Given the description of an element on the screen output the (x, y) to click on. 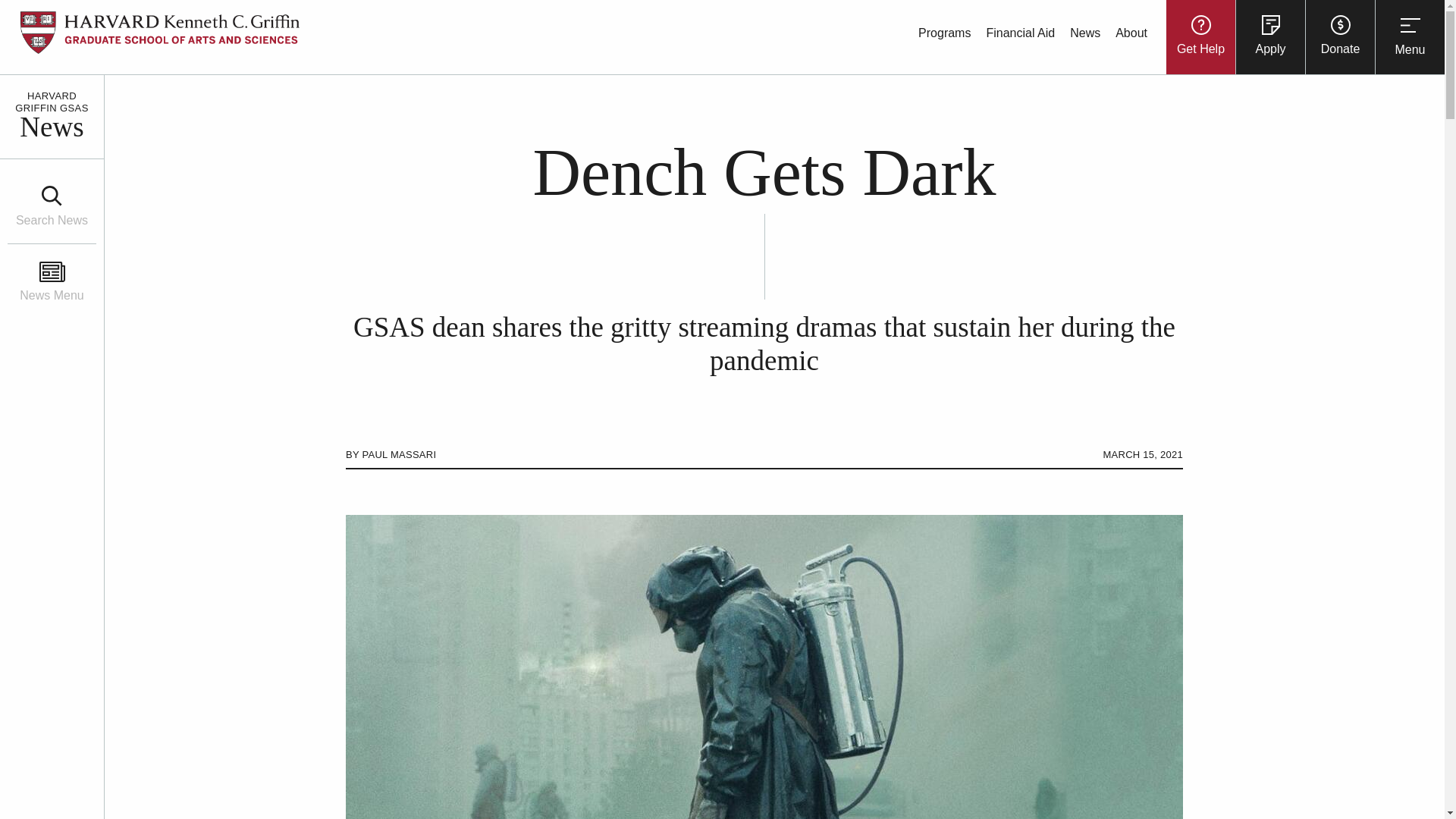
Skip to main content (21, 6)
